Given the description of an element on the screen output the (x, y) to click on. 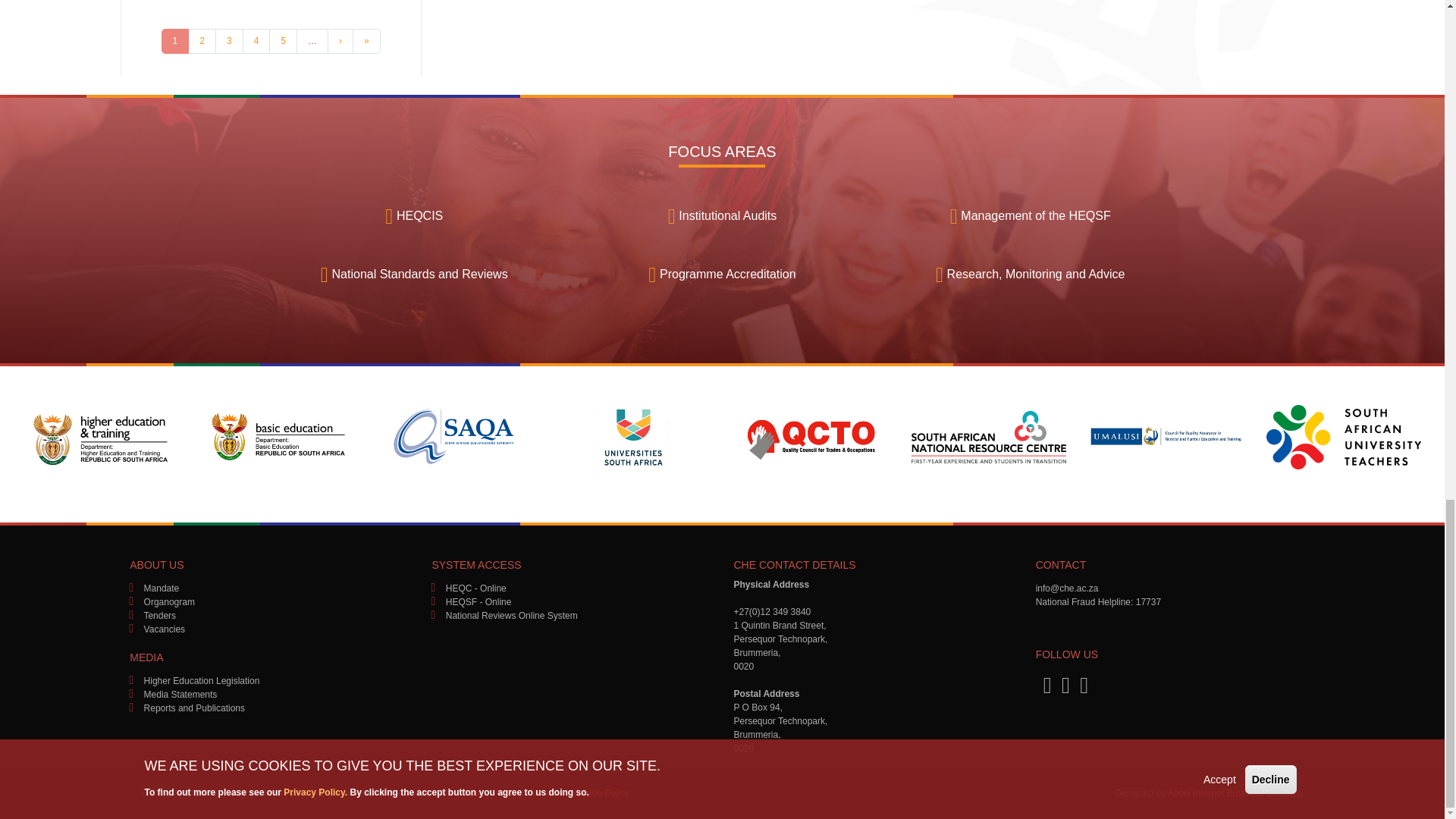
Go to last page (366, 41)
Go to next page (340, 41)
